Given the description of an element on the screen output the (x, y) to click on. 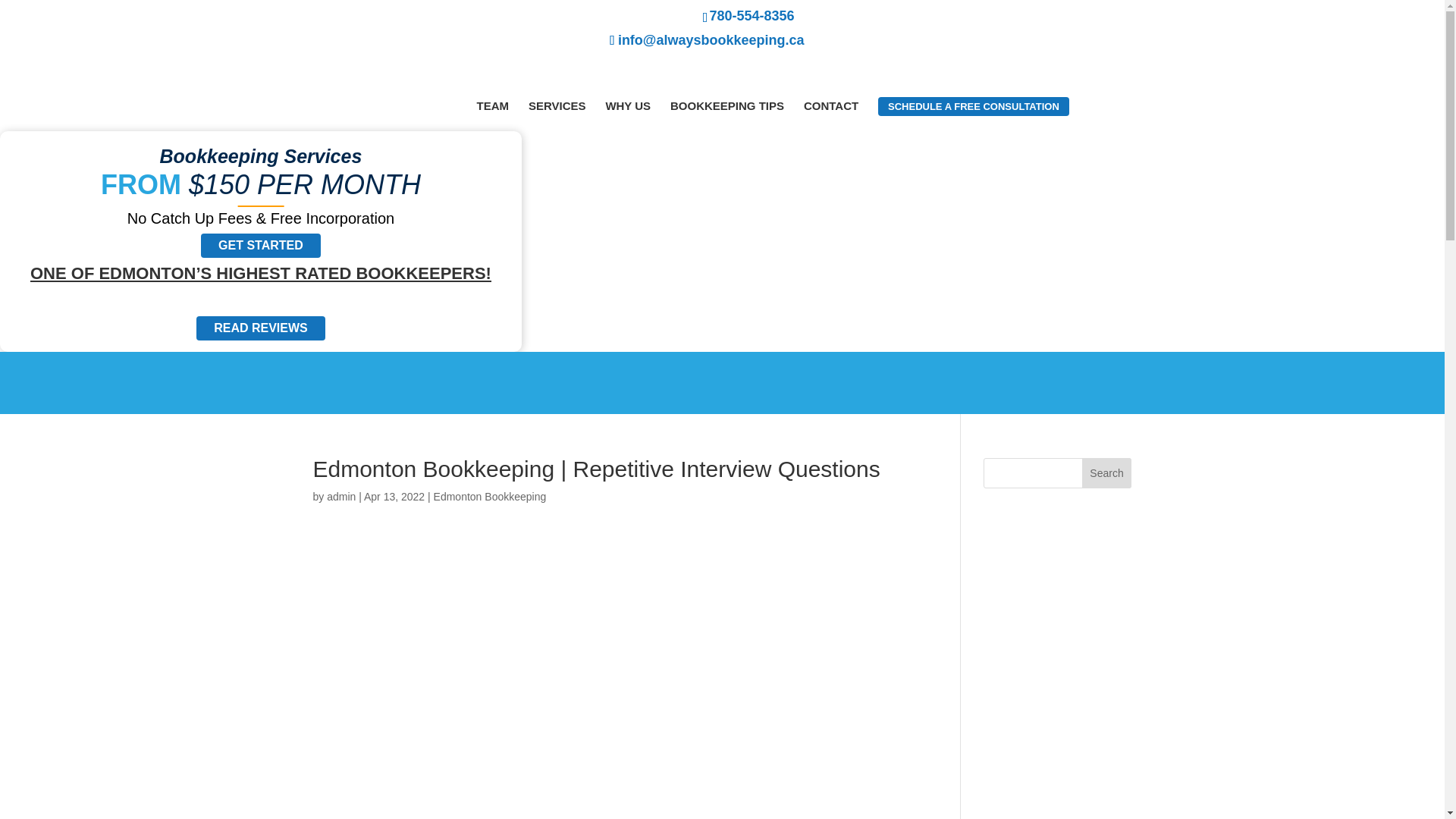
SERVICES (557, 105)
Search (1106, 472)
GET STARTED (260, 245)
Edmonton Bookkeeping (490, 496)
TEAM (492, 105)
READ REVIEWS (260, 328)
CONTACT (831, 105)
WHY US (627, 105)
Posts by admin (340, 496)
admin (340, 496)
